Given the description of an element on the screen output the (x, y) to click on. 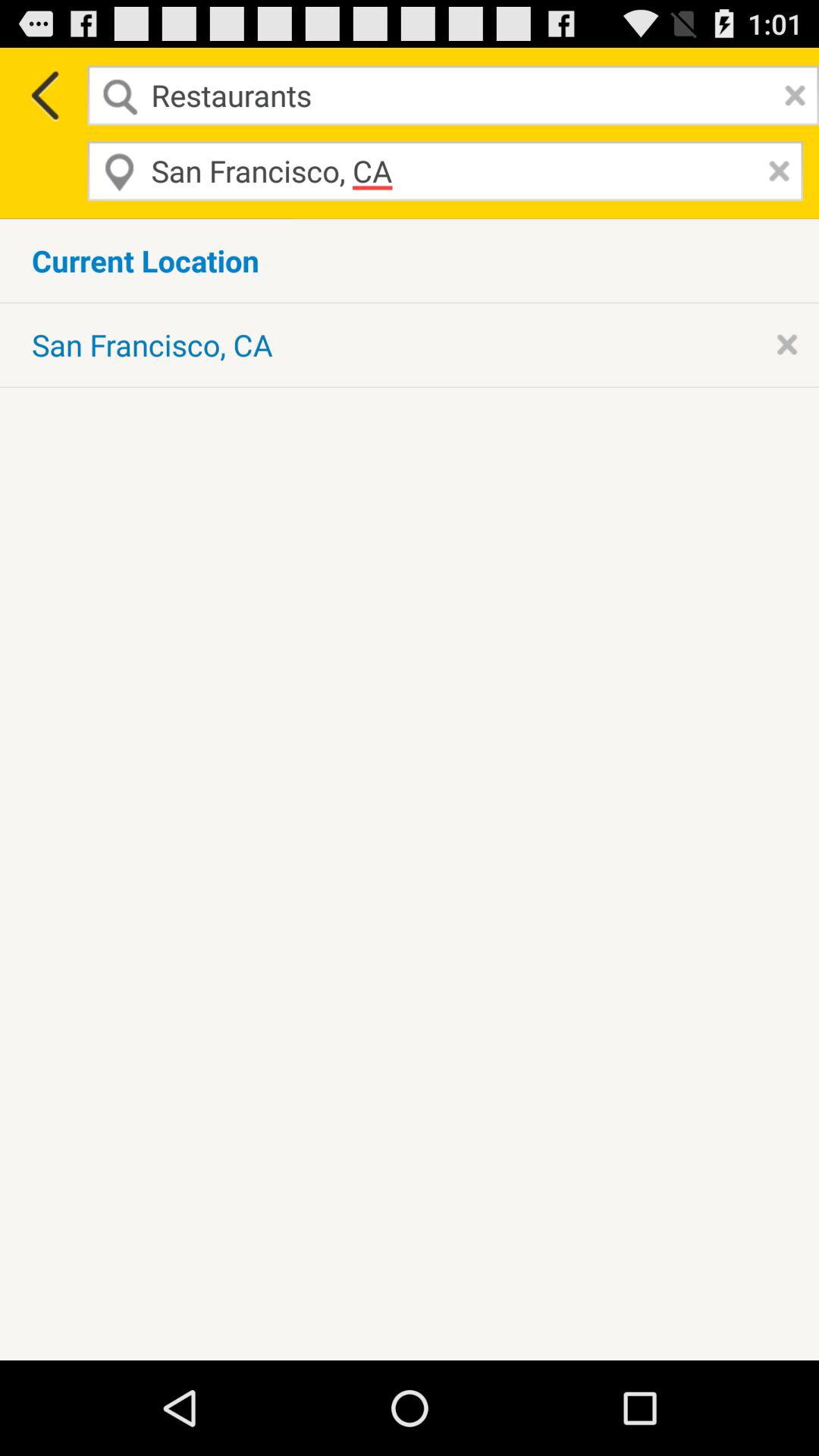
remove option (787, 344)
